Given the description of an element on the screen output the (x, y) to click on. 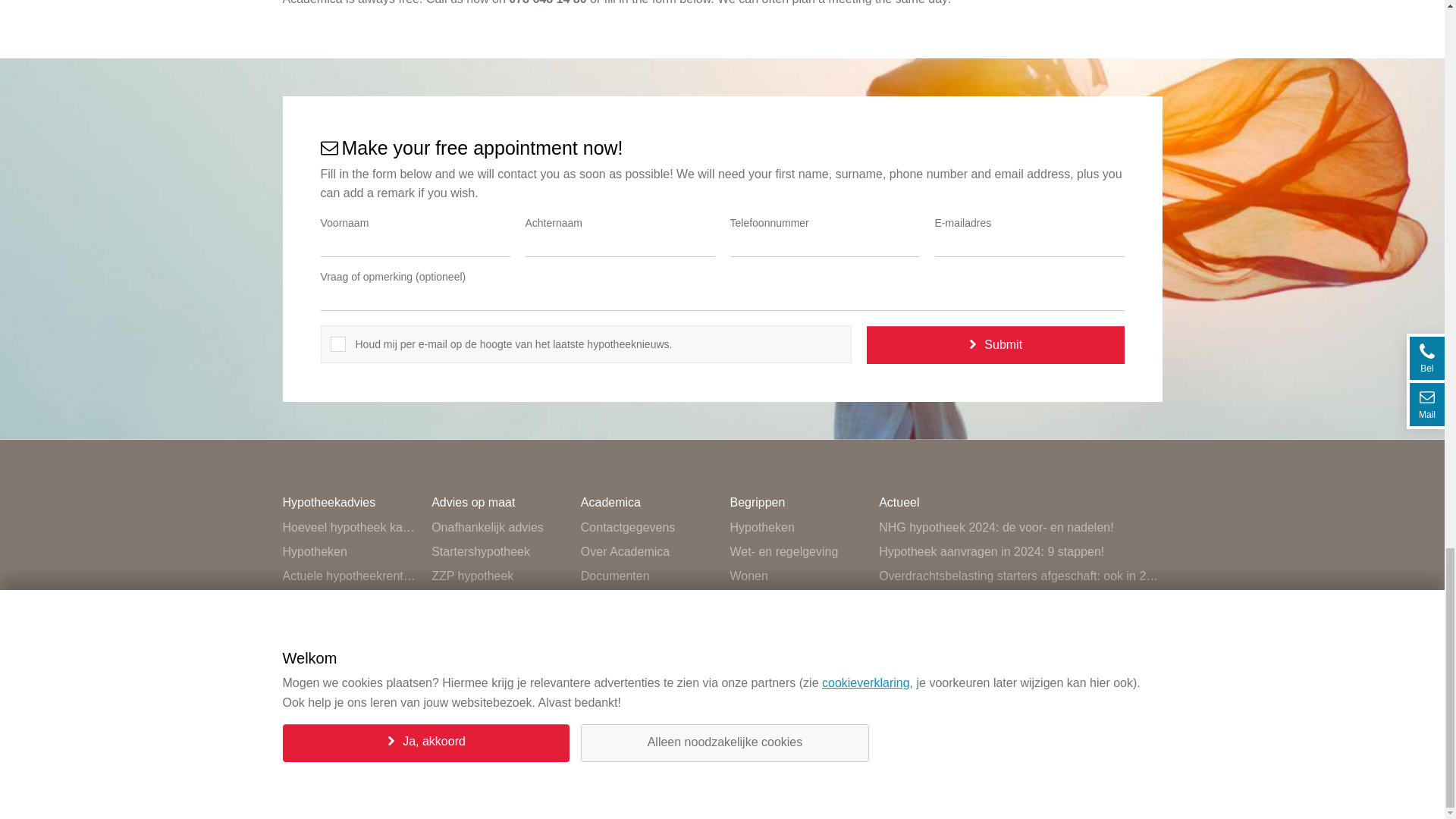
Word aflossingsblij (498, 697)
Aflossingsvrije hypotheek (498, 648)
Hypotheken (349, 551)
Lineaire hypotheek (498, 624)
Hypotheek oversluiten (349, 648)
Vacatures (647, 624)
Promovendum partner (647, 648)
Actuele hypotheekrente overzicht (349, 576)
Submit (995, 344)
Hypotheek verlengen (349, 672)
Volgende woning kopen (349, 624)
Documenten (647, 576)
Nieuwbouw hypotheek (498, 672)
Onafhankelijk advies (498, 527)
Hoeveel hypotheek kan ik krijgen? (349, 527)
